Given the description of an element on the screen output the (x, y) to click on. 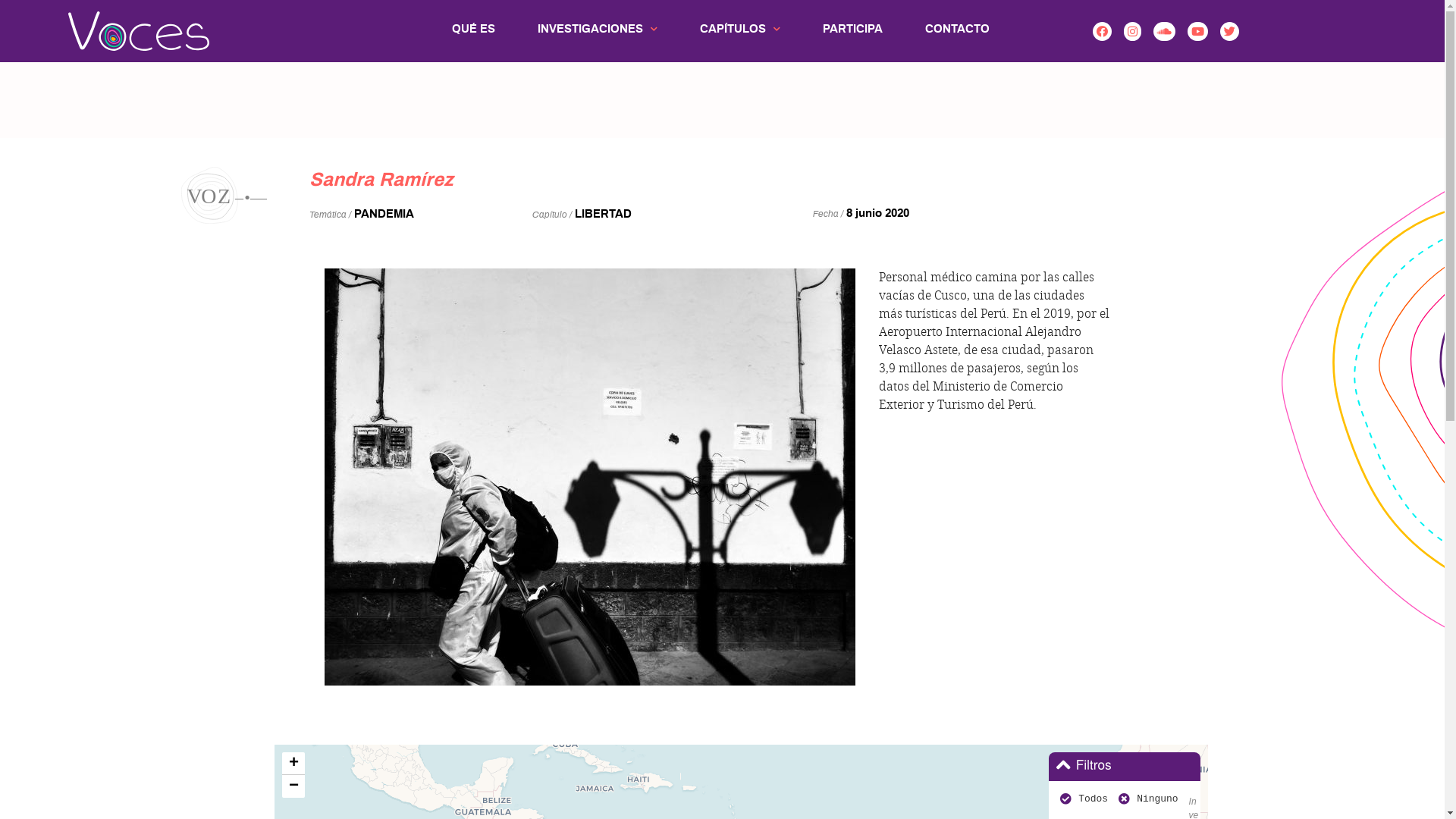
Todos Element type: text (1092, 798)
INVESTIGACIONES Element type: text (597, 29)
PANDEMIA Element type: text (384, 213)
CONTACTO Element type: text (956, 29)
LIBERTAD Element type: text (602, 213)
PARTICIPA Element type: text (852, 29)
+ Element type: text (293, 763)
Ninguno Element type: text (1156, 798)
